Given the description of an element on the screen output the (x, y) to click on. 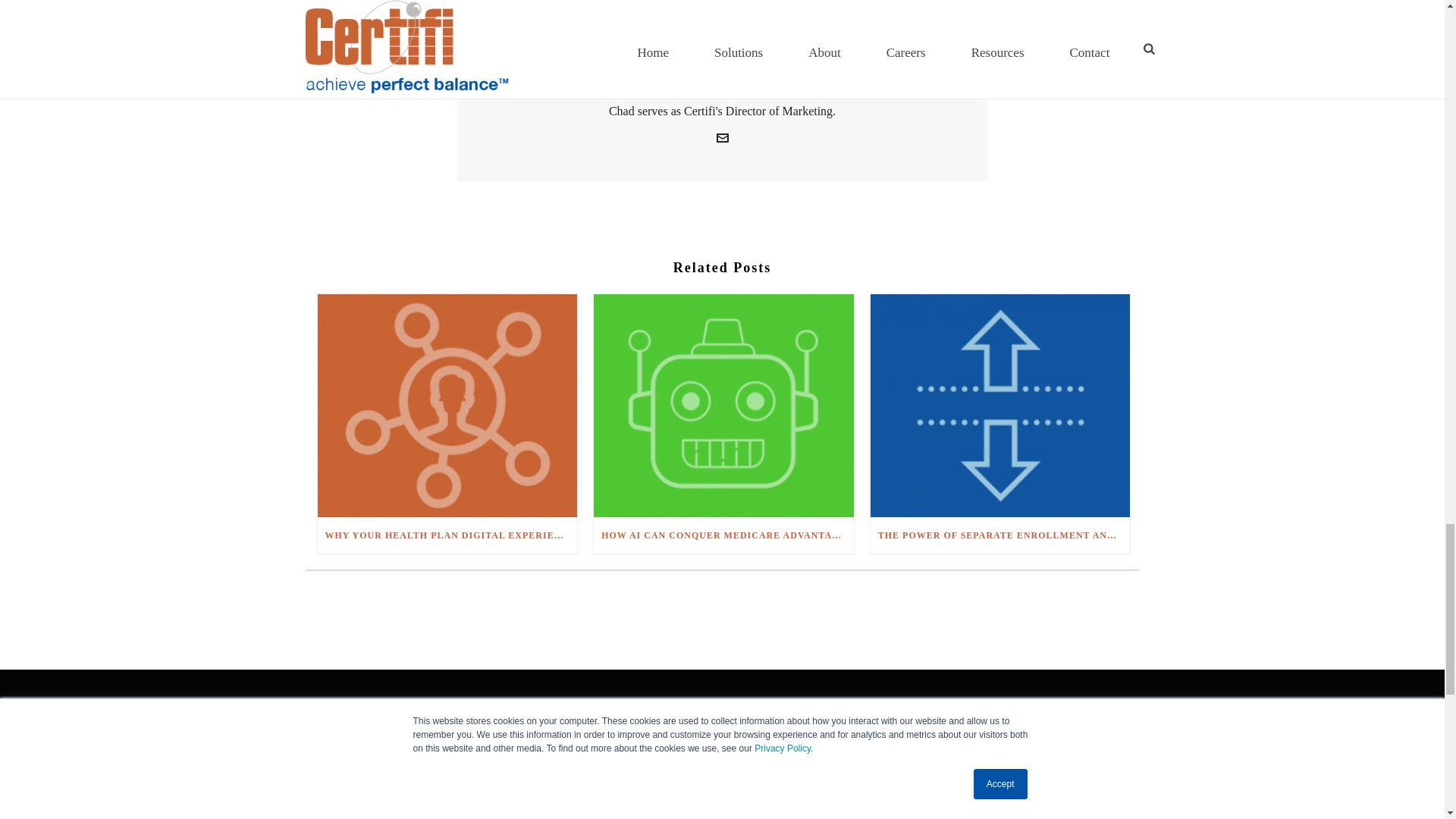
How AI Can Conquer Medicare Advantage Enrollment During AEP (723, 405)
Why Your Health Plan Digital Experience Might Be Lagging (446, 405)
